Given the description of an element on the screen output the (x, y) to click on. 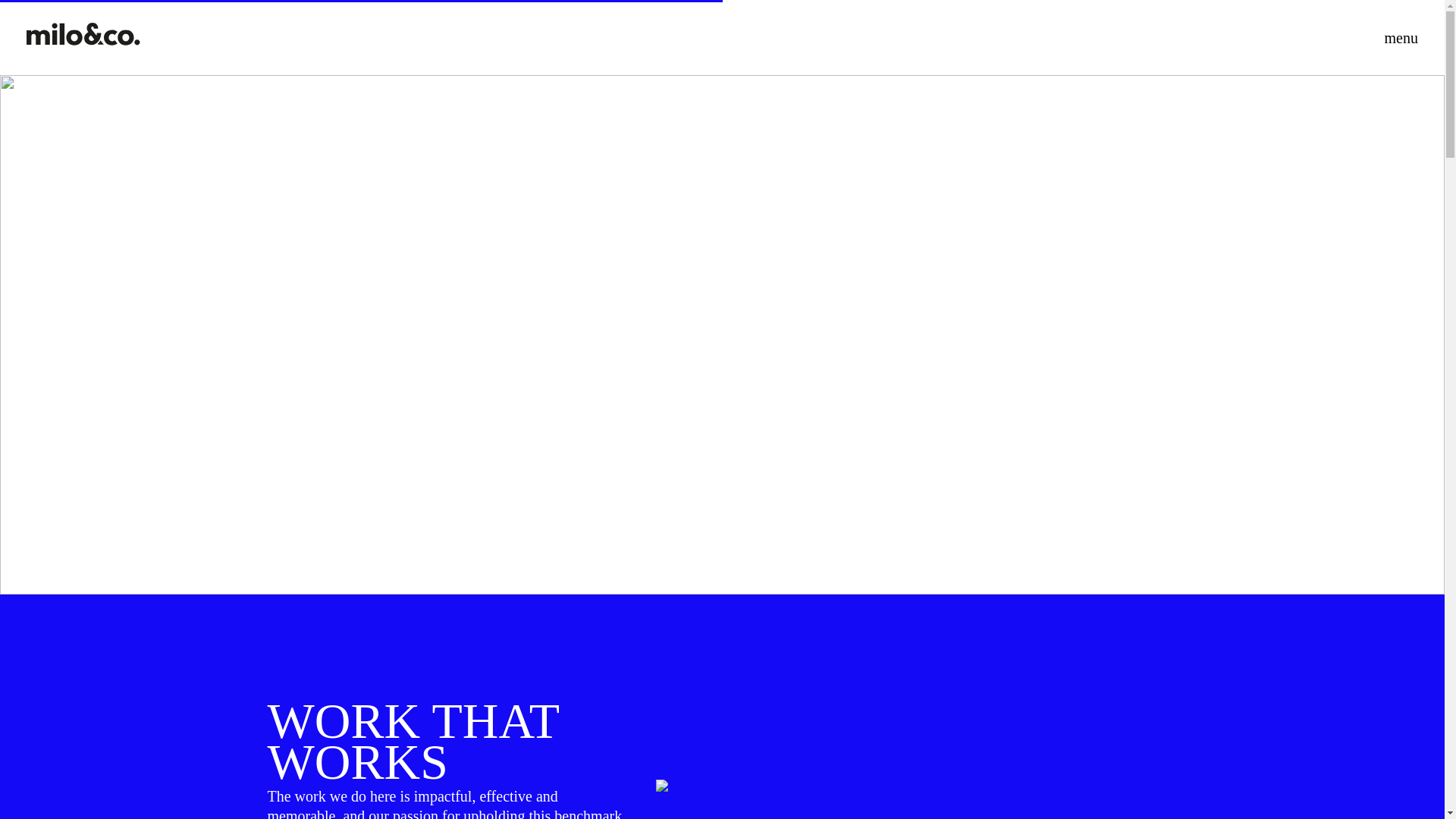
menu Element type: text (1380, 37)
